Given the description of an element on the screen output the (x, y) to click on. 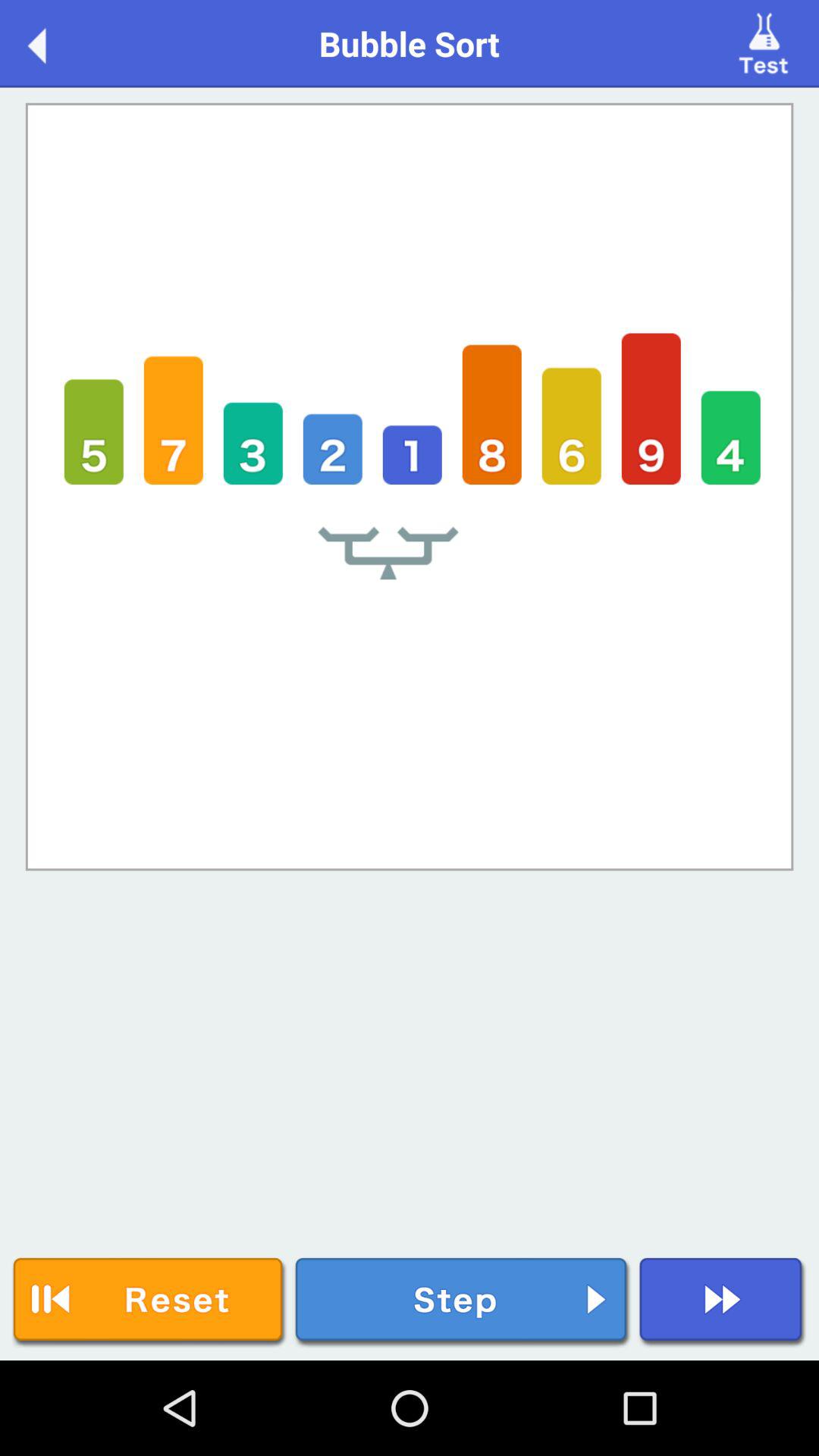
go back previous page (52, 42)
